Given the description of an element on the screen output the (x, y) to click on. 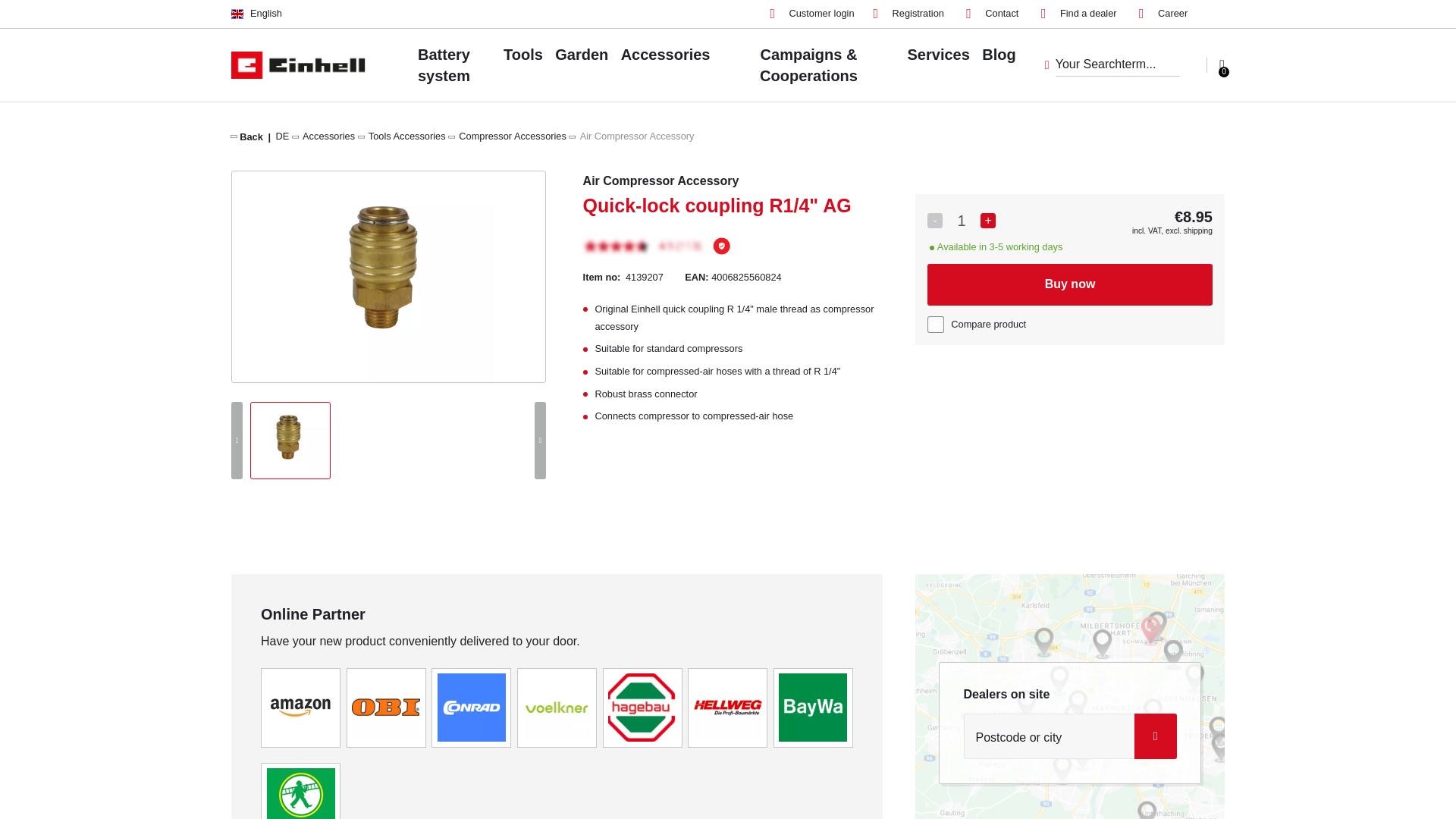
Customer login (812, 13)
DE (282, 135)
hagebau (642, 707)
Conrad (471, 707)
leitermann.de (300, 801)
Voelkner (556, 707)
Registration (908, 13)
Find a dealer (1078, 13)
Amazon (300, 707)
BayWa (812, 707)
Contact (991, 13)
Career (1163, 13)
Accessories (328, 135)
Hellweg (727, 707)
1 (960, 220)
